Given the description of an element on the screen output the (x, y) to click on. 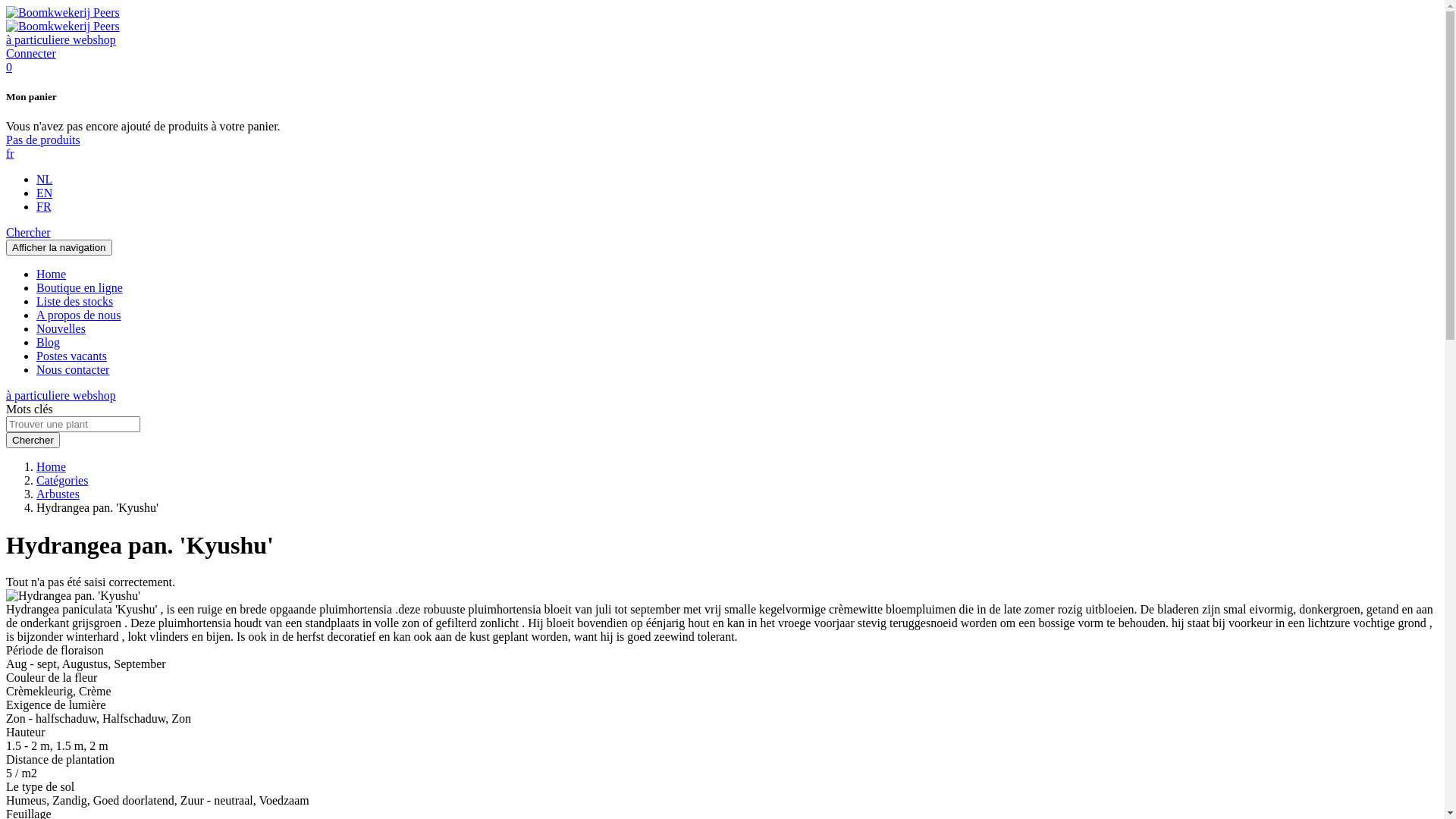
Pas de produits Element type: text (43, 139)
Chercher Element type: text (28, 231)
Liste des stocks Element type: text (74, 300)
Afficher la navigation Element type: text (59, 247)
FR Element type: text (43, 206)
Boutique en ligne Element type: text (79, 287)
Connecter Element type: text (31, 53)
Arbustes Element type: text (57, 493)
Nouvelles Element type: text (60, 328)
Home Element type: text (50, 466)
Nous contacter Element type: text (72, 369)
0 Element type: text (9, 66)
A propos de nous Element type: text (78, 314)
Blog Element type: text (47, 341)
fr Element type: text (10, 153)
Home Element type: text (50, 273)
NL Element type: text (44, 178)
EN Element type: text (44, 192)
Postes vacants Element type: text (71, 355)
Chercher Element type: text (32, 440)
